Given the description of an element on the screen output the (x, y) to click on. 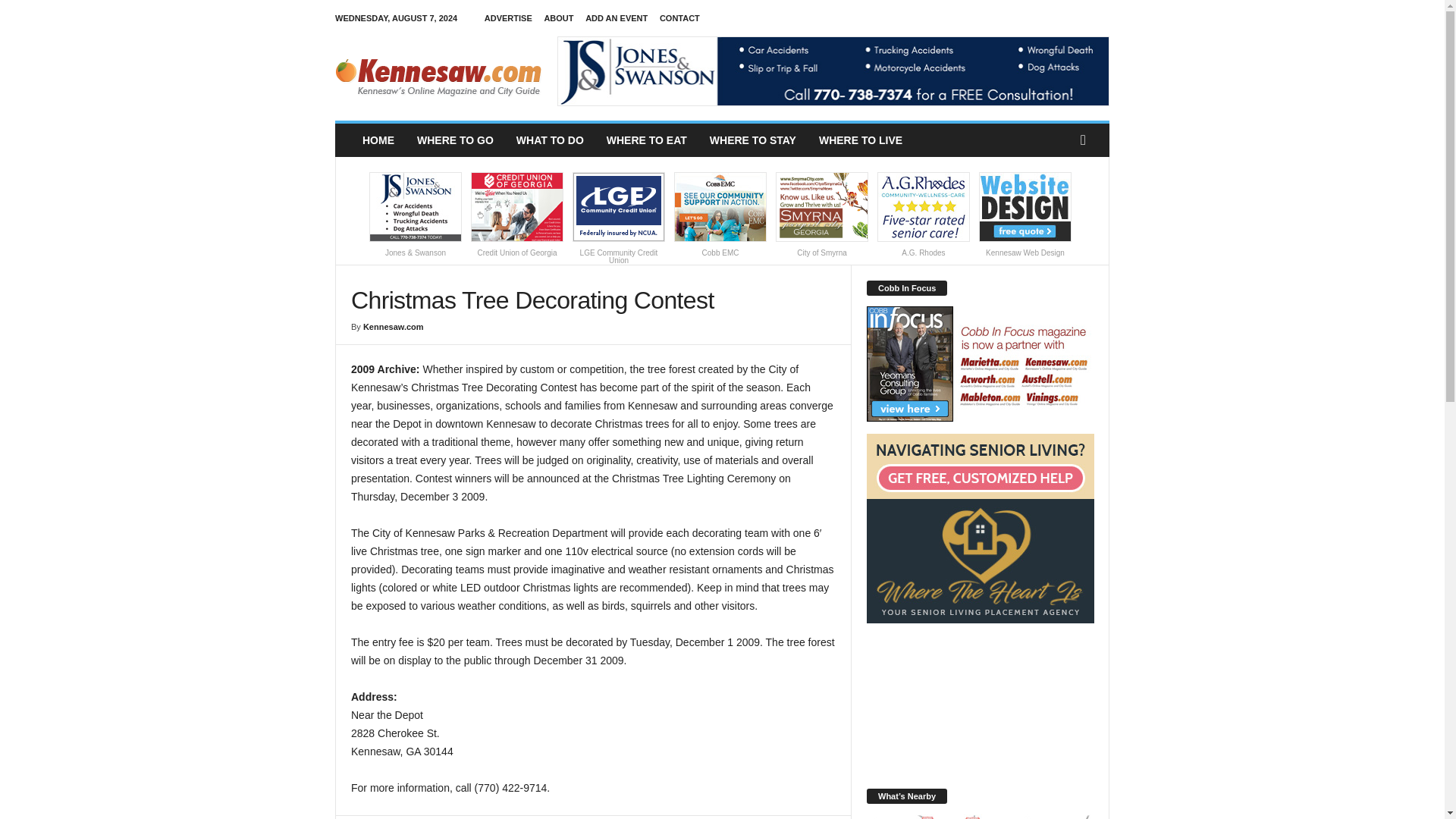
Kennesaw.com (437, 70)
ADD AN EVENT (616, 17)
ADVERTISE (508, 17)
WHERE TO GO (455, 140)
CONTACT (679, 17)
ABOUT (558, 17)
HOME (378, 140)
